Given the description of an element on the screen output the (x, y) to click on. 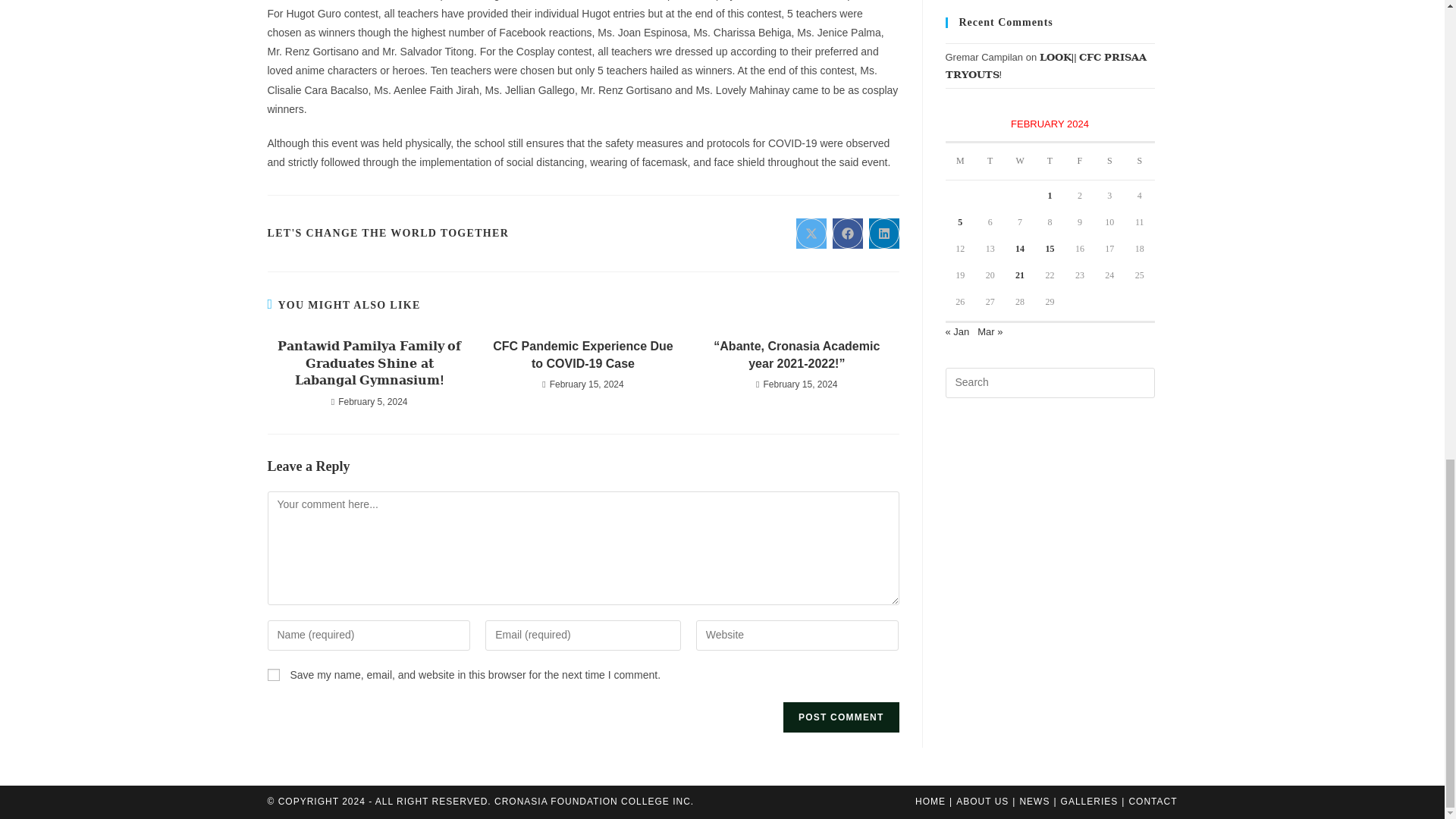
yes (272, 674)
Post Comment (840, 716)
